Given the description of an element on the screen output the (x, y) to click on. 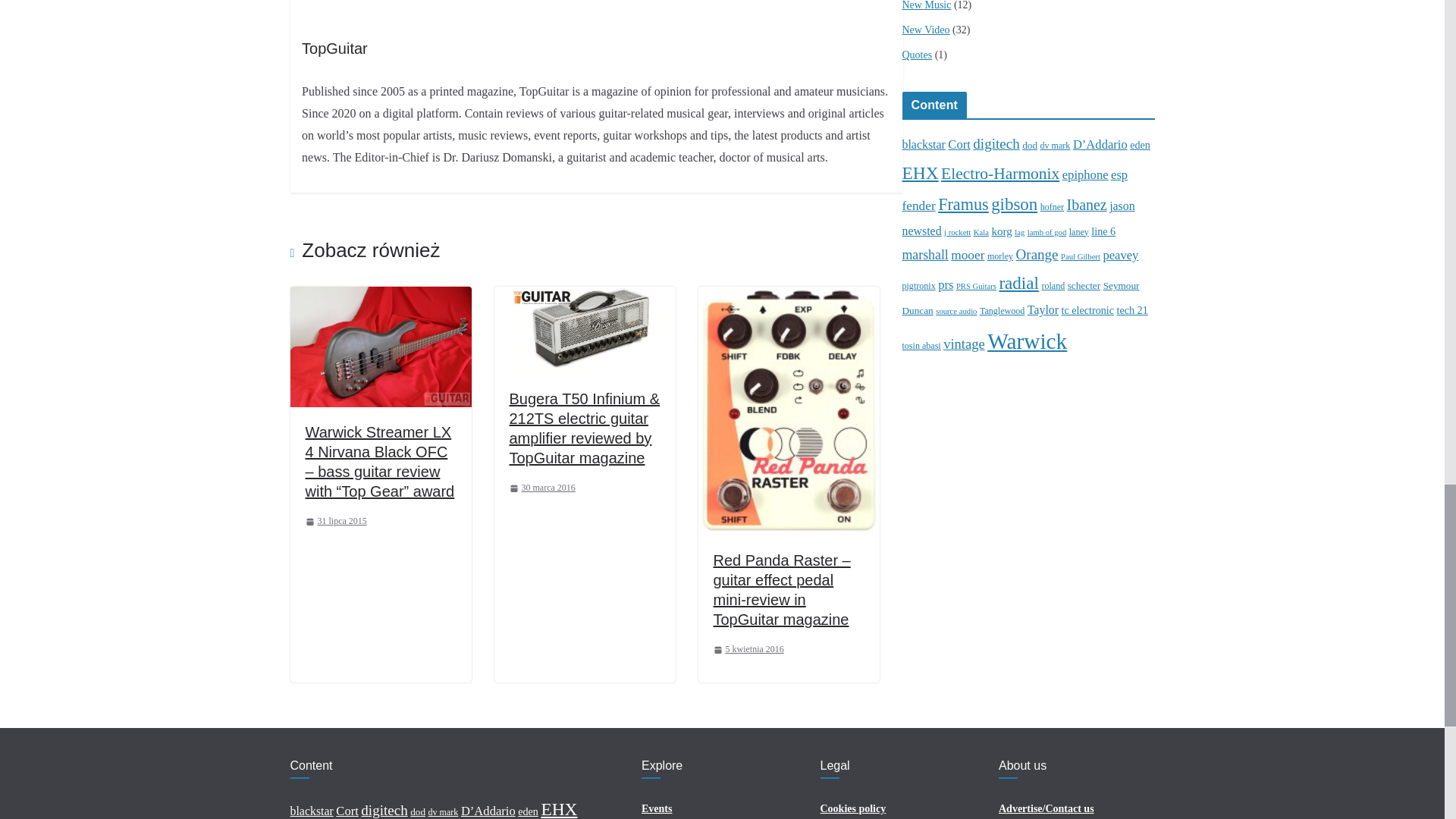
31 lipca 2015 (335, 521)
30 marca 2016 (542, 487)
13:33 (335, 521)
